Given the description of an element on the screen output the (x, y) to click on. 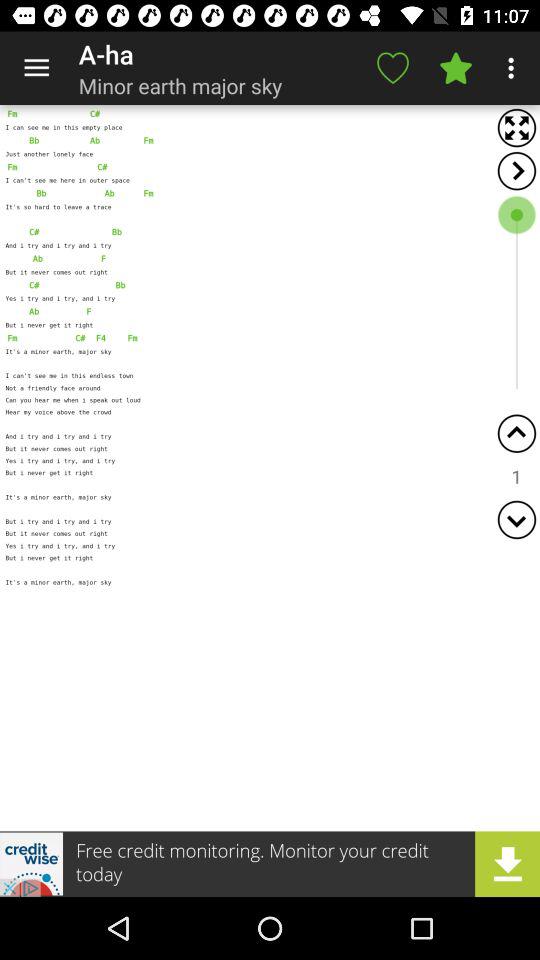
view full screen (516, 127)
